Given the description of an element on the screen output the (x, y) to click on. 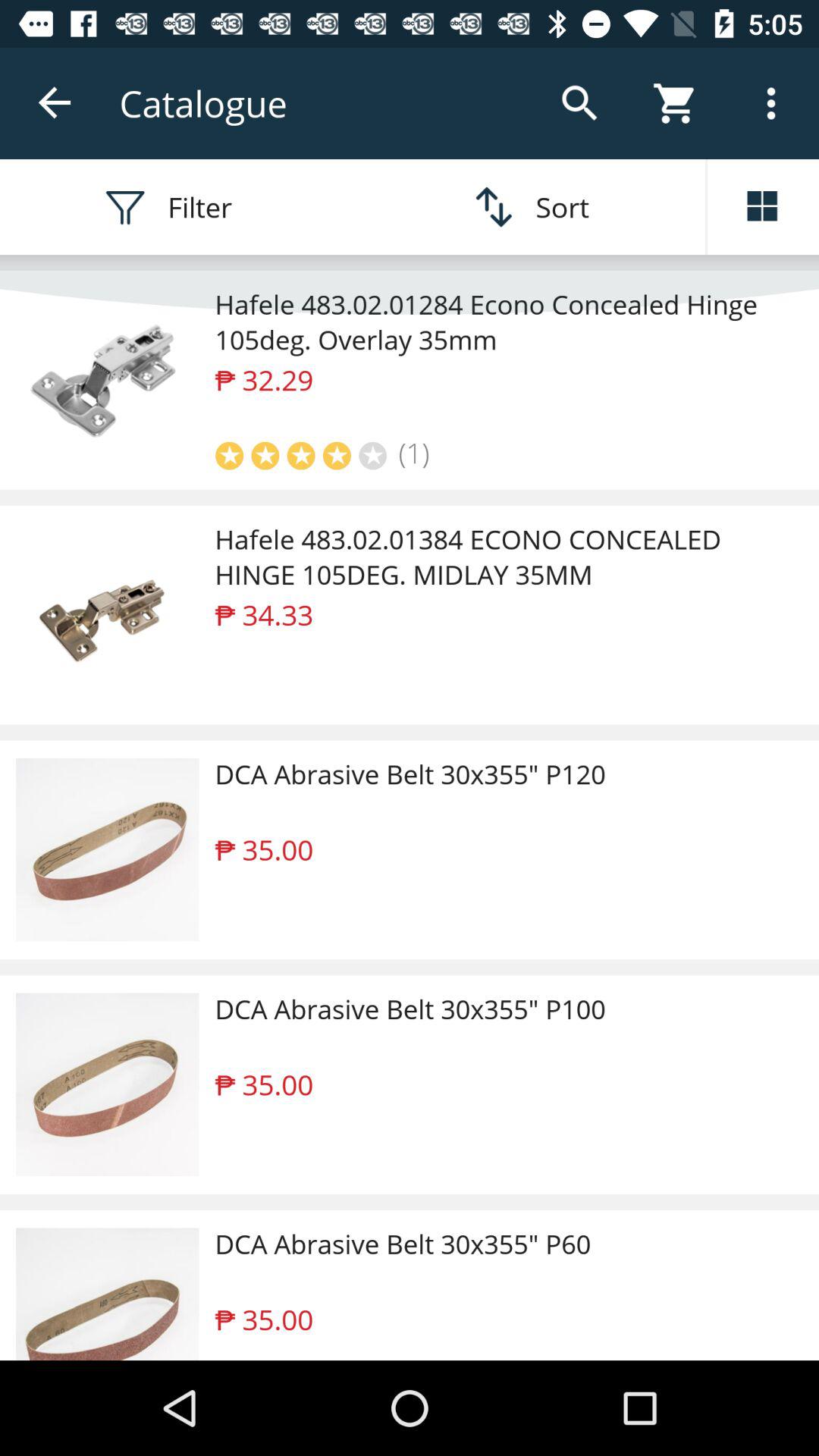
go back (55, 103)
